Given the description of an element on the screen output the (x, y) to click on. 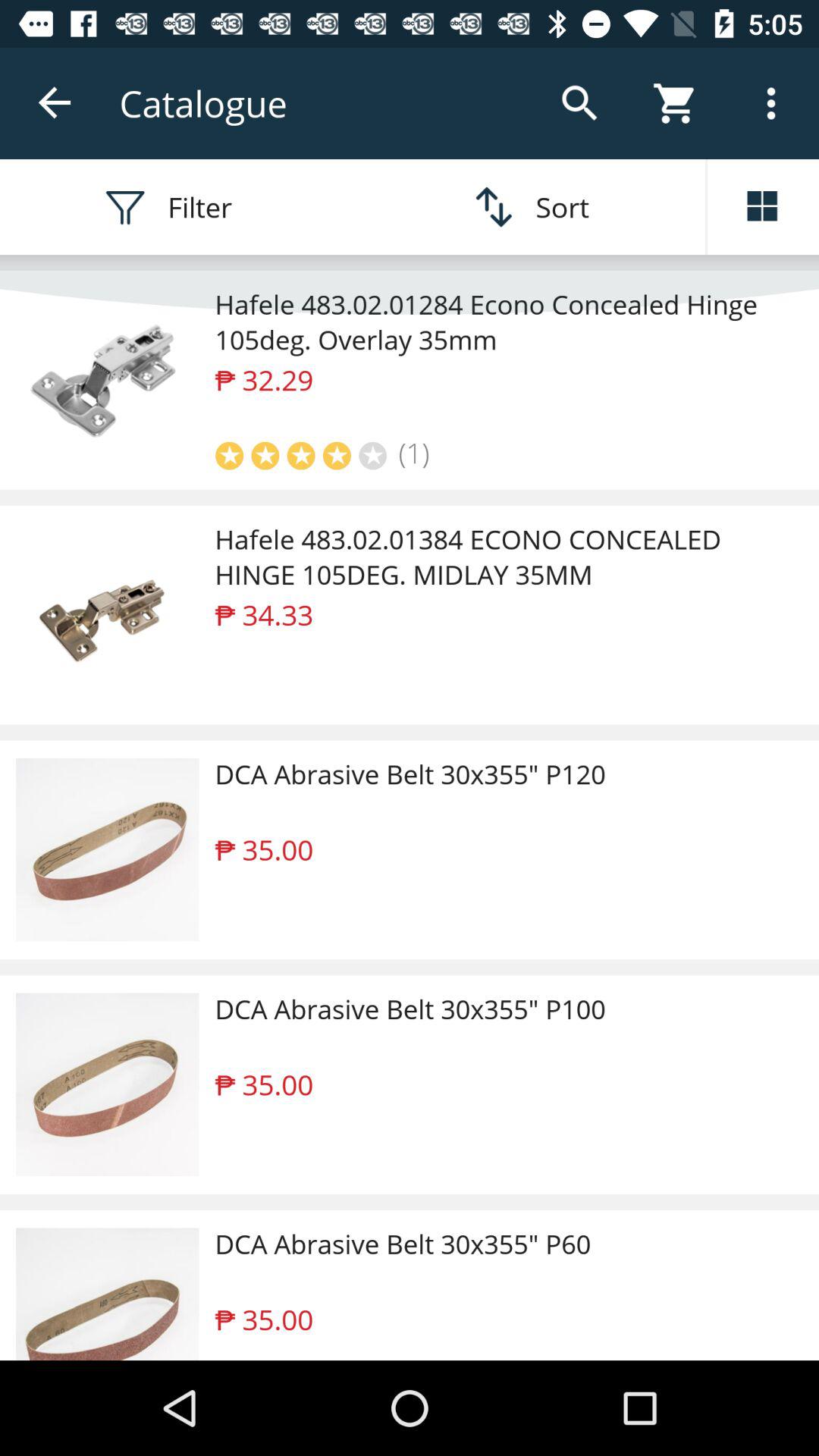
go back (55, 103)
